Given the description of an element on the screen output the (x, y) to click on. 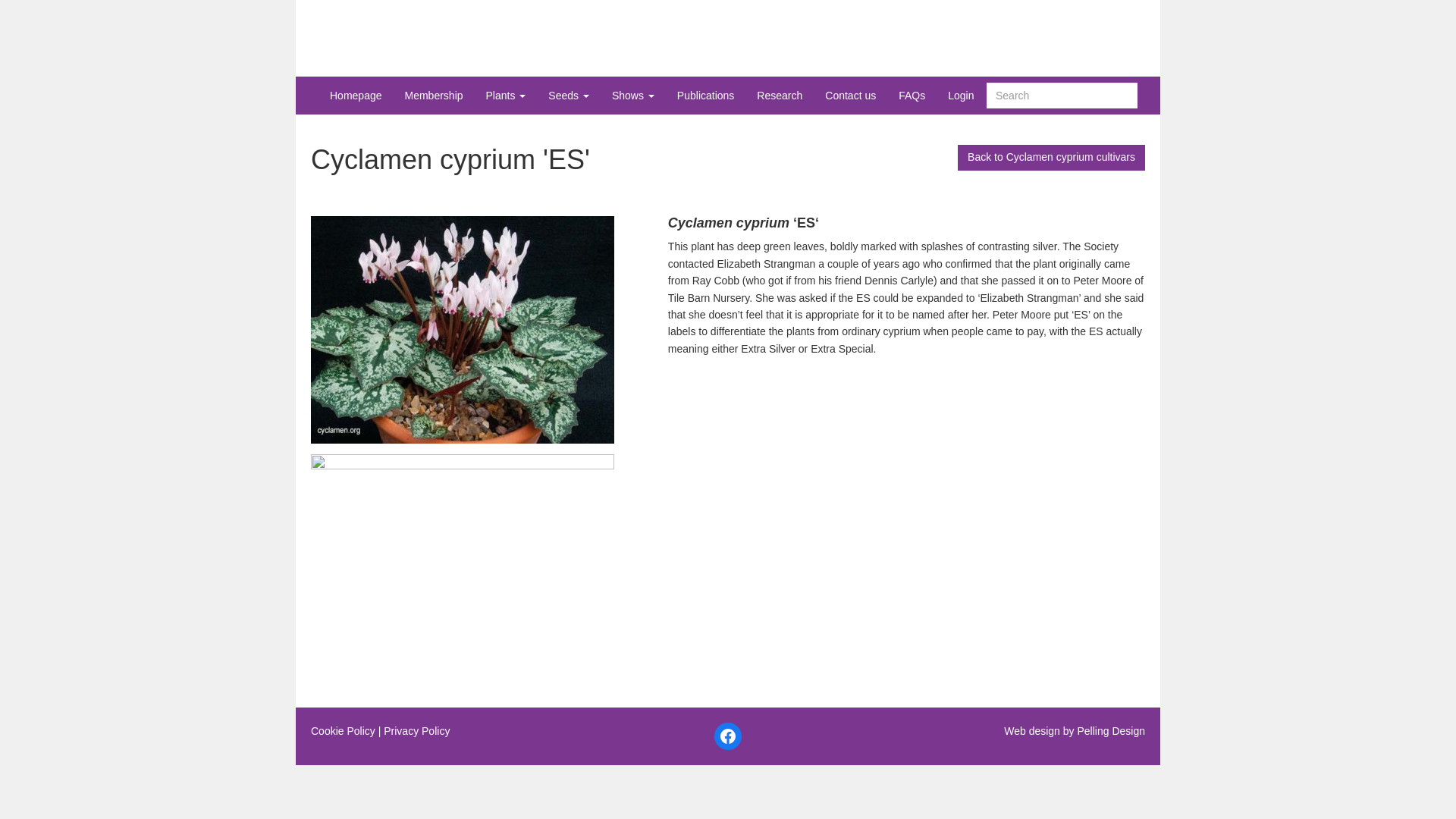
Seeds (568, 95)
Shows (632, 95)
Privacy Policy (416, 730)
Plants (505, 95)
Shows (632, 95)
Contact us (849, 95)
Cyclamen Society (727, 41)
Homepage (355, 95)
Login (960, 95)
Membership (433, 95)
